Given the description of an element on the screen output the (x, y) to click on. 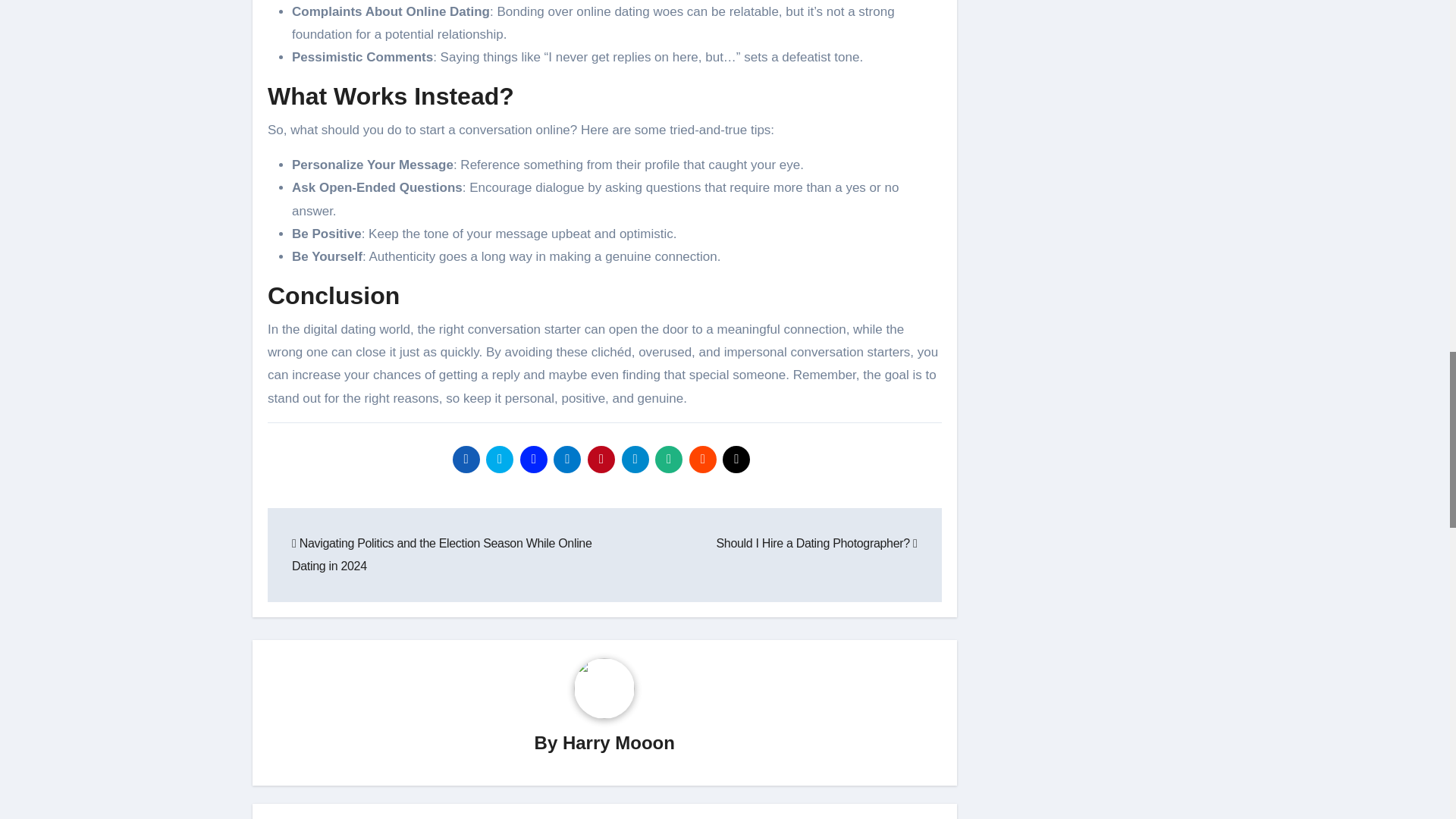
Should I Hire a Dating Photographer? (816, 543)
Harry Mooon (618, 742)
